Given the description of an element on the screen output the (x, y) to click on. 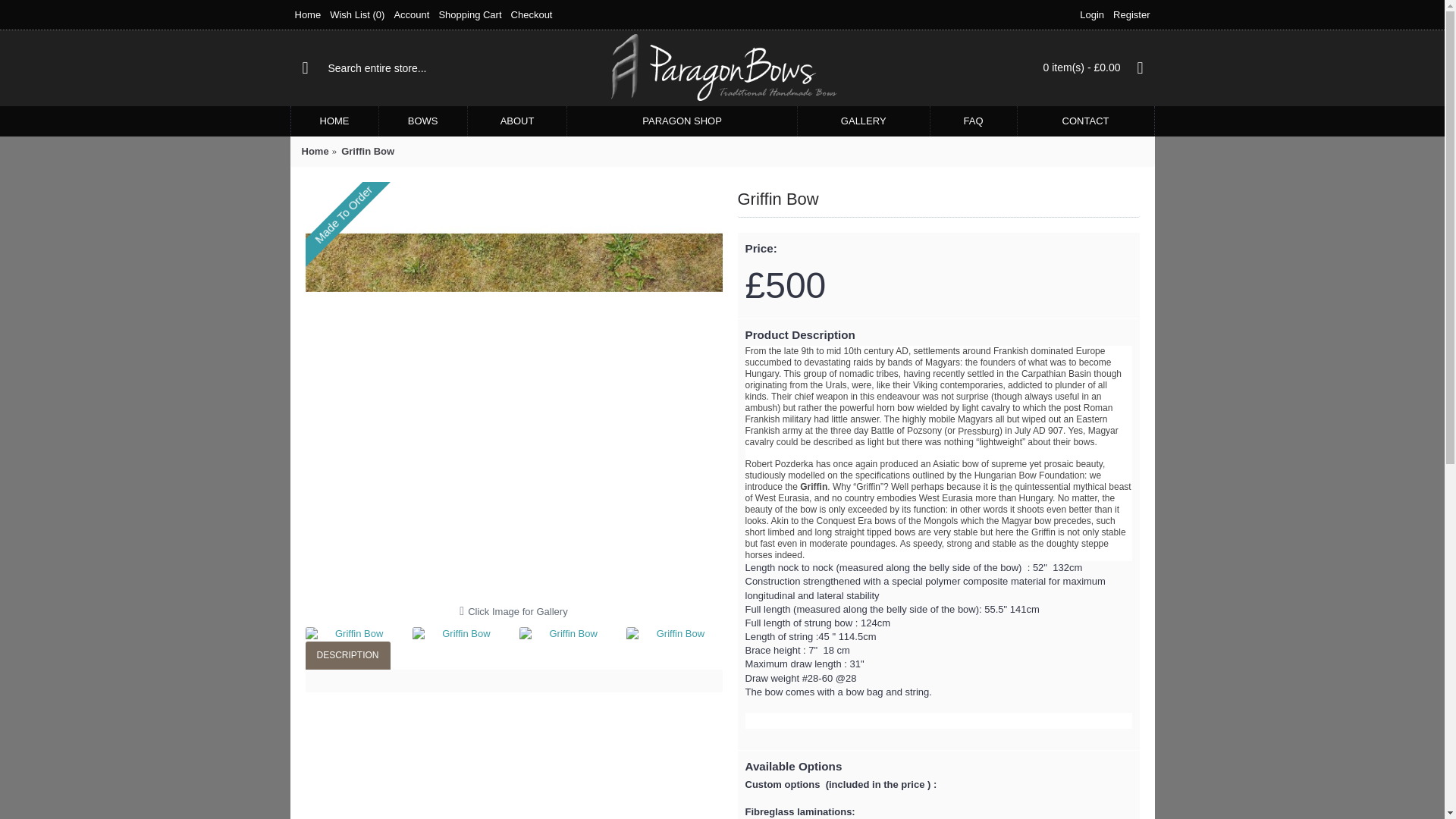
BOWS (422, 121)
Login (1091, 15)
CONTACT (1085, 121)
GALLERY (863, 121)
ABOUT (517, 121)
Checkout (531, 15)
Home (306, 15)
HOME (334, 121)
Home (315, 151)
PARAGON SHOP (681, 121)
Griffin Bow (367, 151)
Register (1131, 15)
Paragon Bows (722, 68)
Griffin Bow (566, 633)
Griffin Bow (674, 633)
